Given the description of an element on the screen output the (x, y) to click on. 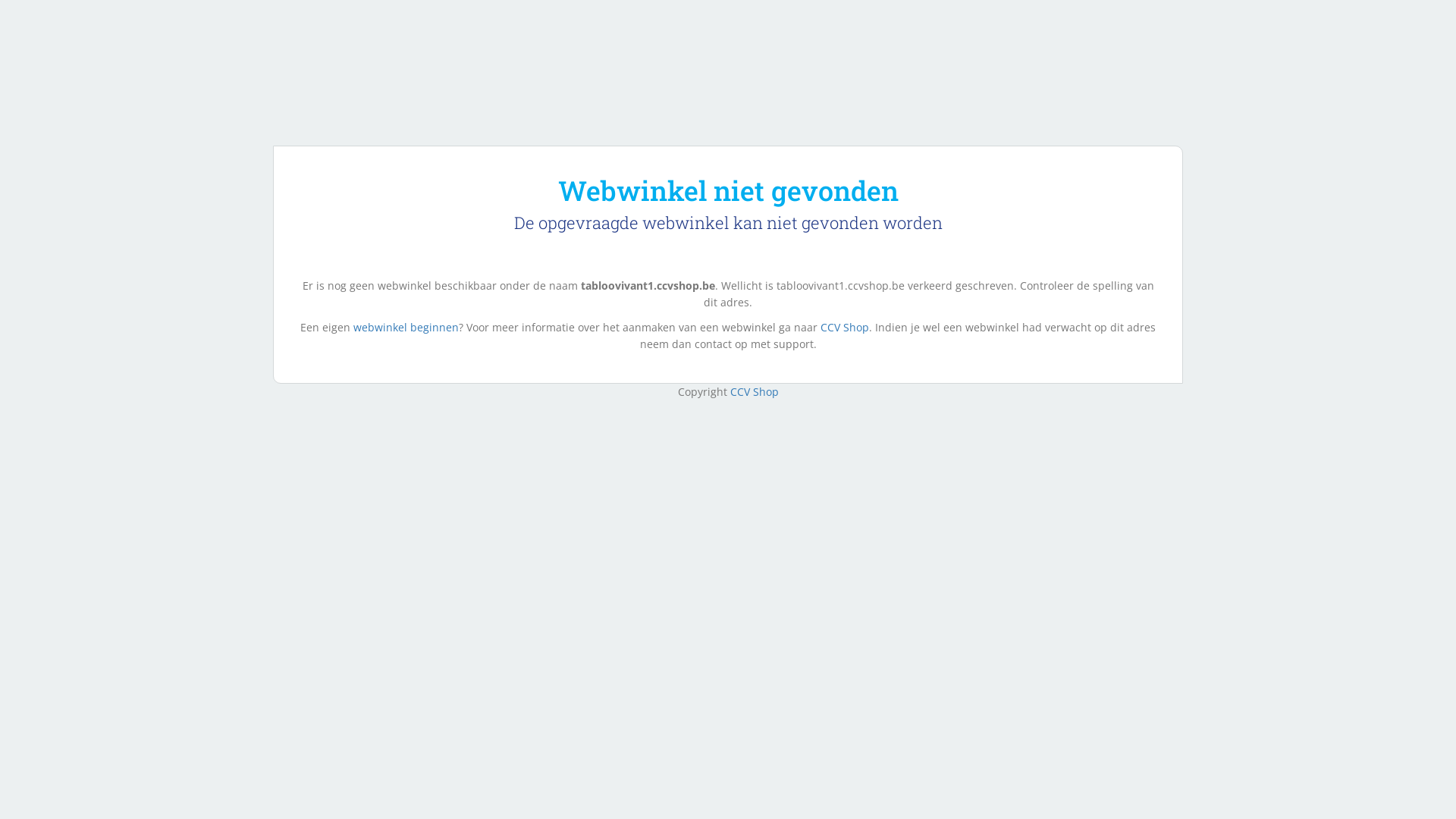
webwinkel beginnen Element type: text (405, 327)
CCV Shop Element type: text (844, 327)
CCV Shop Element type: text (753, 391)
